Given the description of an element on the screen output the (x, y) to click on. 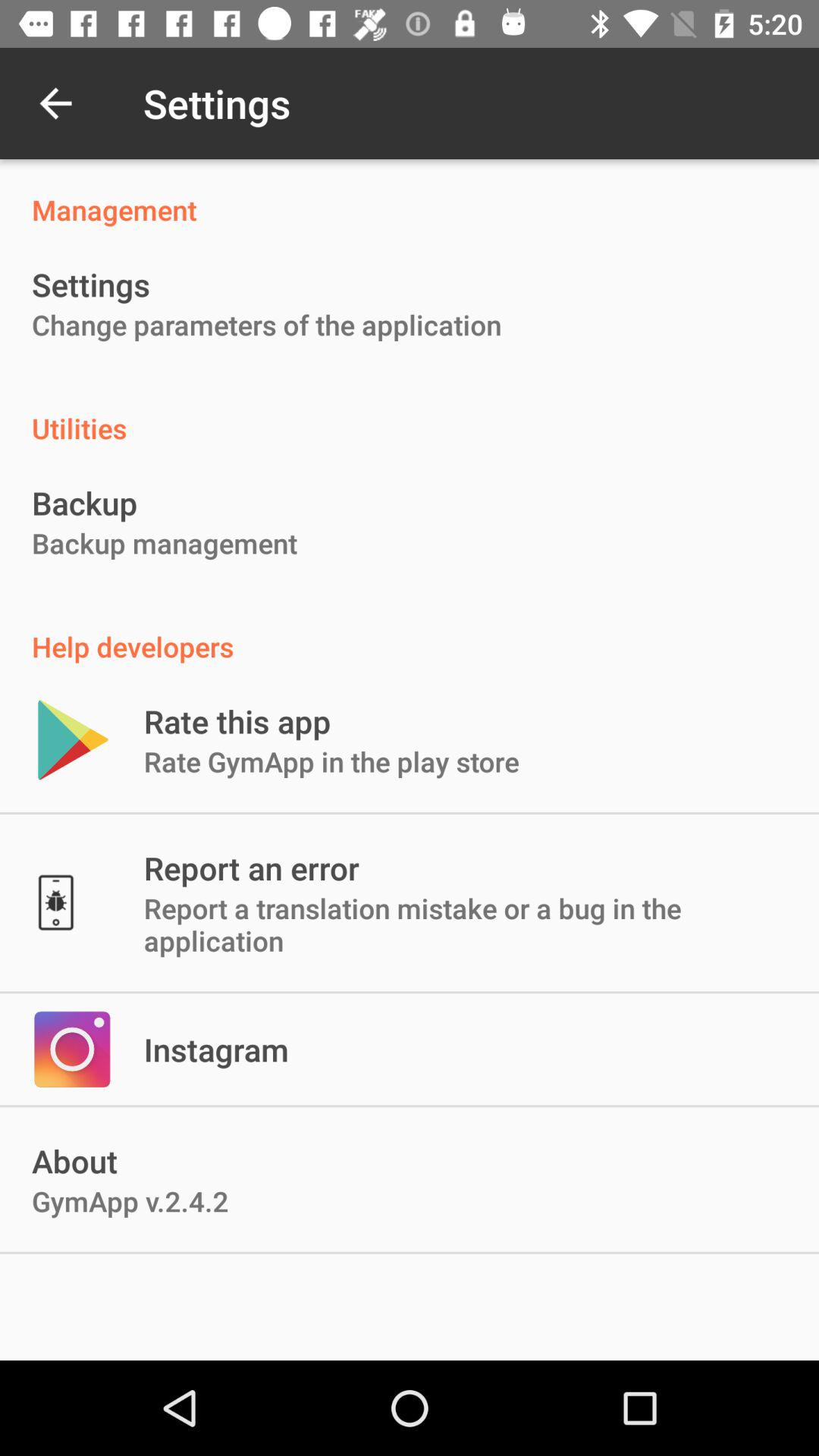
open icon above the backup icon (409, 412)
